Given the description of an element on the screen output the (x, y) to click on. 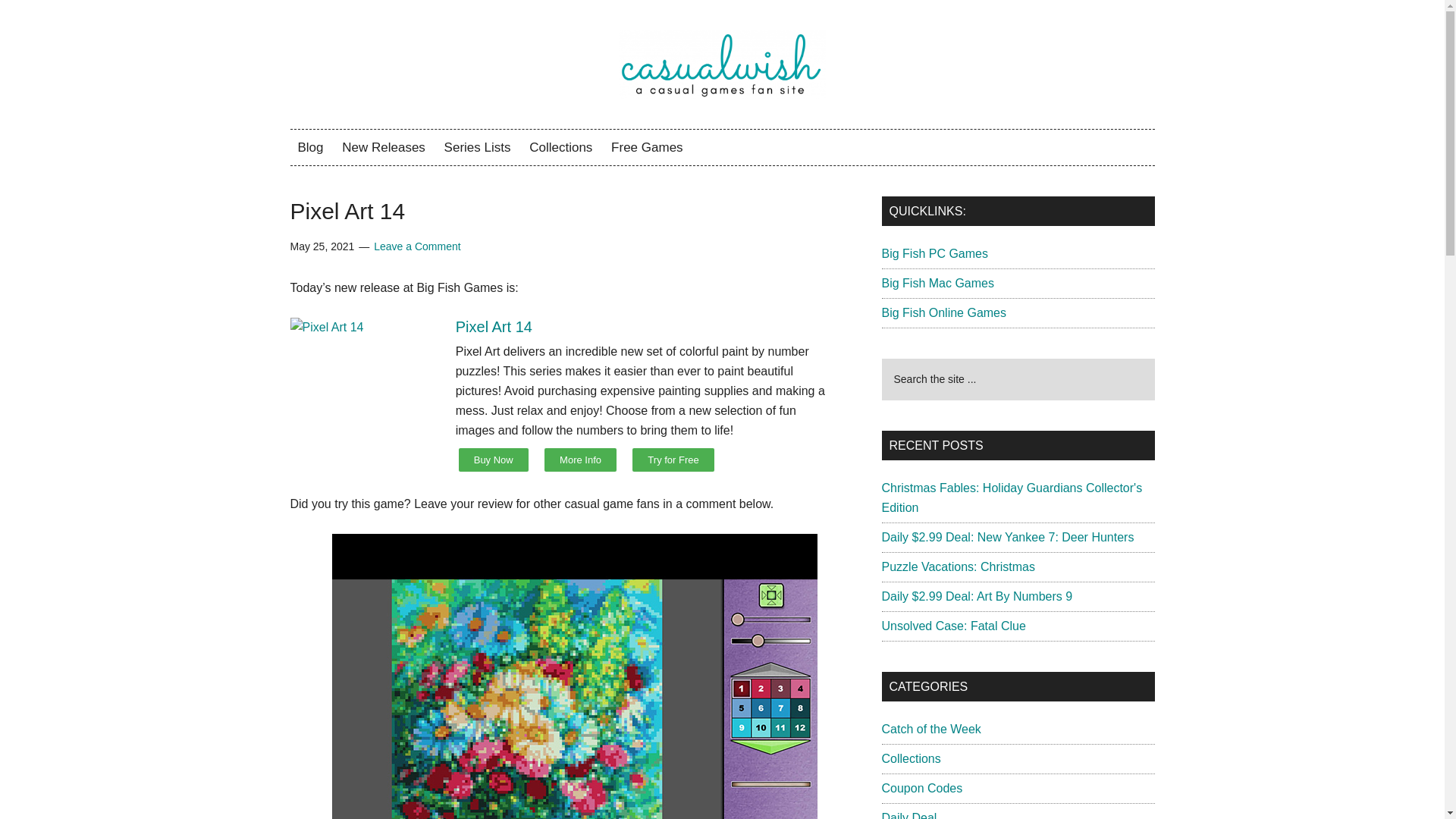
Big Fish Mac Games (936, 282)
Big Fish PC Games (933, 253)
Free Games (647, 147)
Catch of the Week (929, 728)
Try for Free (672, 459)
Puzzle Vacations: Christmas (956, 566)
